Given the description of an element on the screen output the (x, y) to click on. 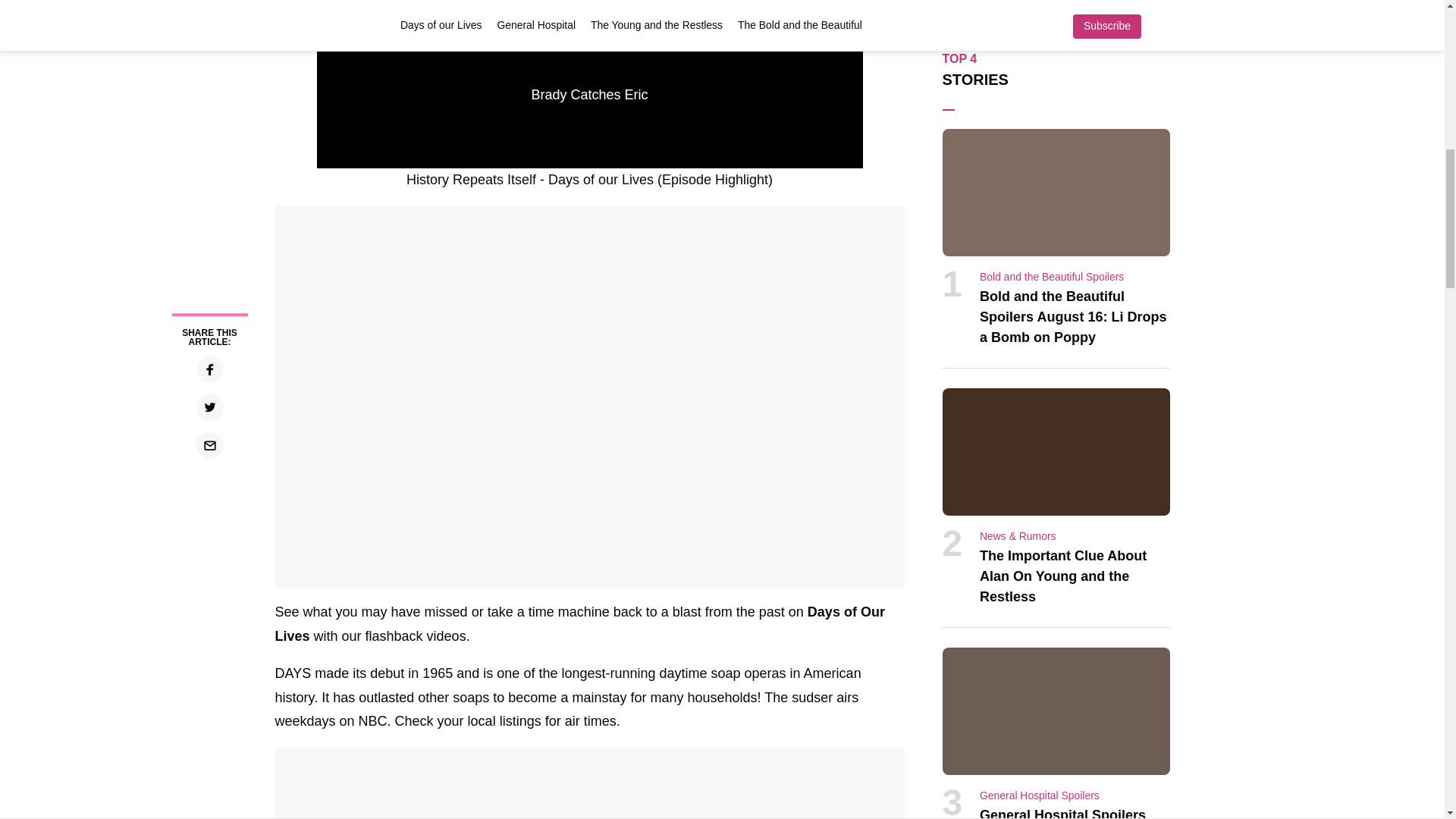
The Important Clue About Alan On Young and the Restless (1063, 575)
Bold and the Beautiful Spoilers (1051, 276)
General Hospital Spoilers (1039, 795)
